Given the description of an element on the screen output the (x, y) to click on. 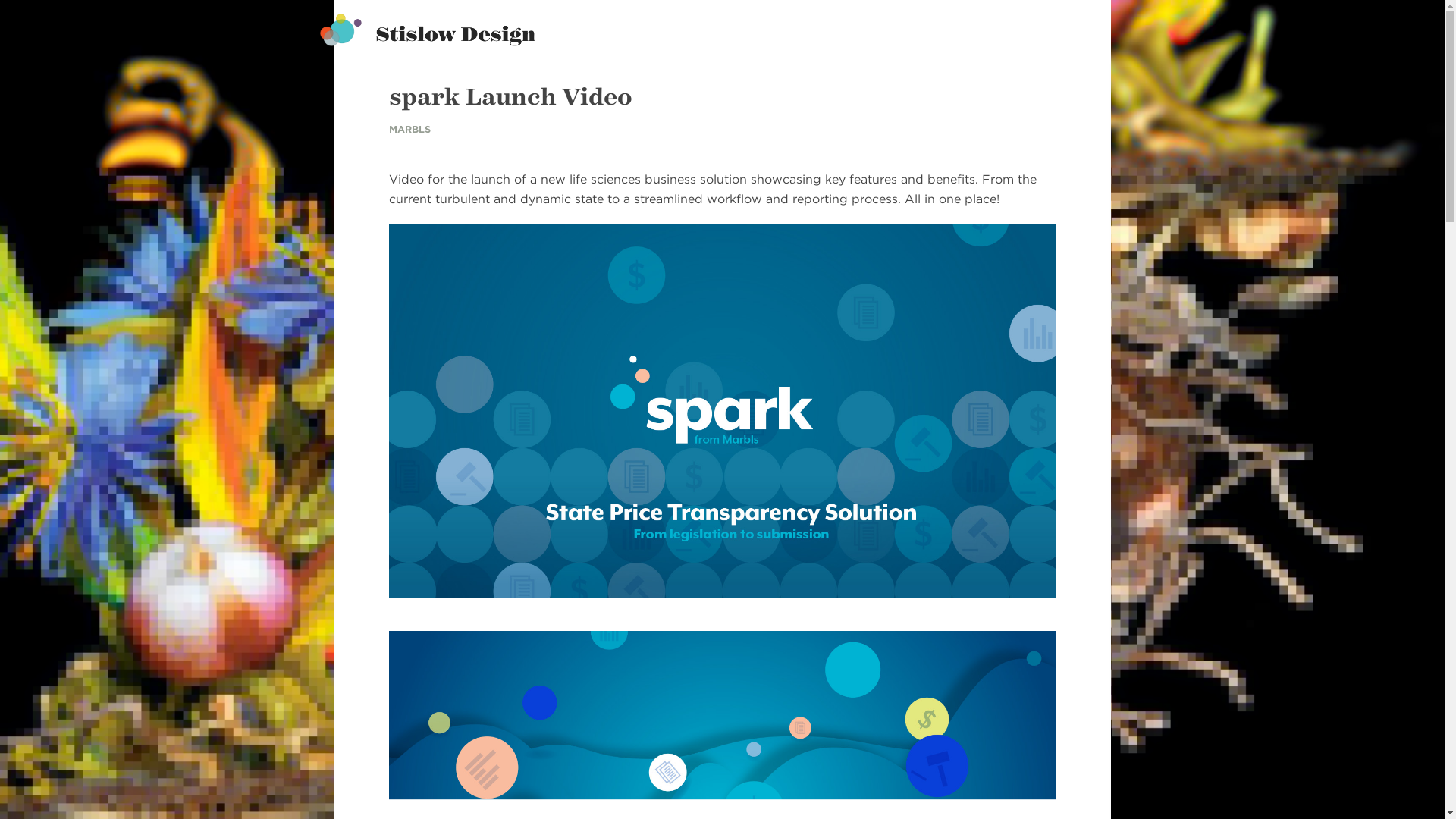
MARBLS (408, 129)
